Given the description of an element on the screen output the (x, y) to click on. 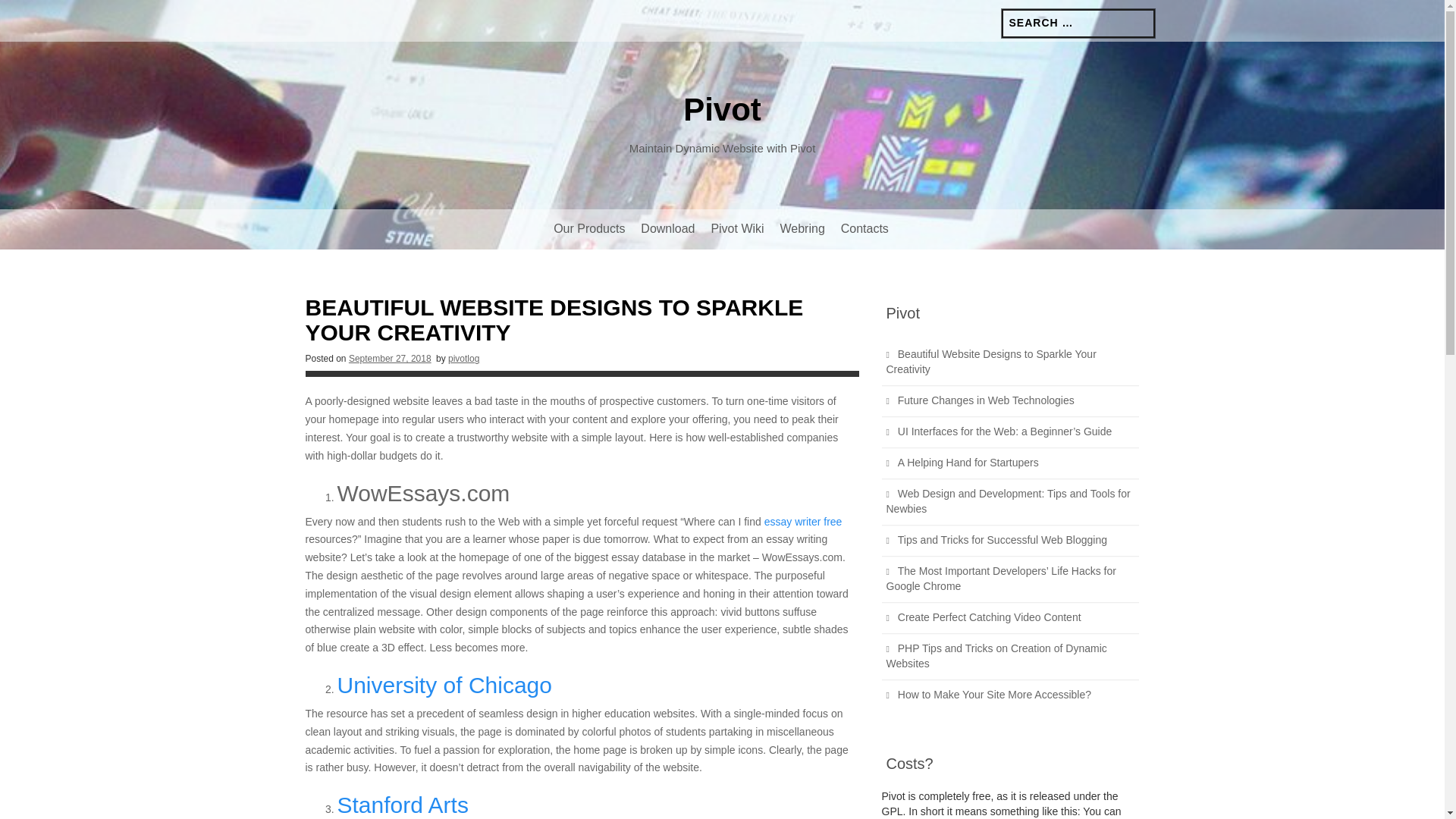
A Helping Hand for Startupers (968, 462)
PHP Tips and Tricks on Creation of Dynamic Websites (995, 655)
Beautiful Website Designs to Sparkle Your Creativity (990, 361)
Our Products (588, 229)
Web Design and Development: Tips and Tools for Newbies (1007, 501)
Pivot (721, 109)
Pivot Wiki (737, 229)
Webring (801, 229)
Create Perfect Catching Video Content (989, 616)
How to Make Your Site More Accessible? (994, 694)
